Given the description of an element on the screen output the (x, y) to click on. 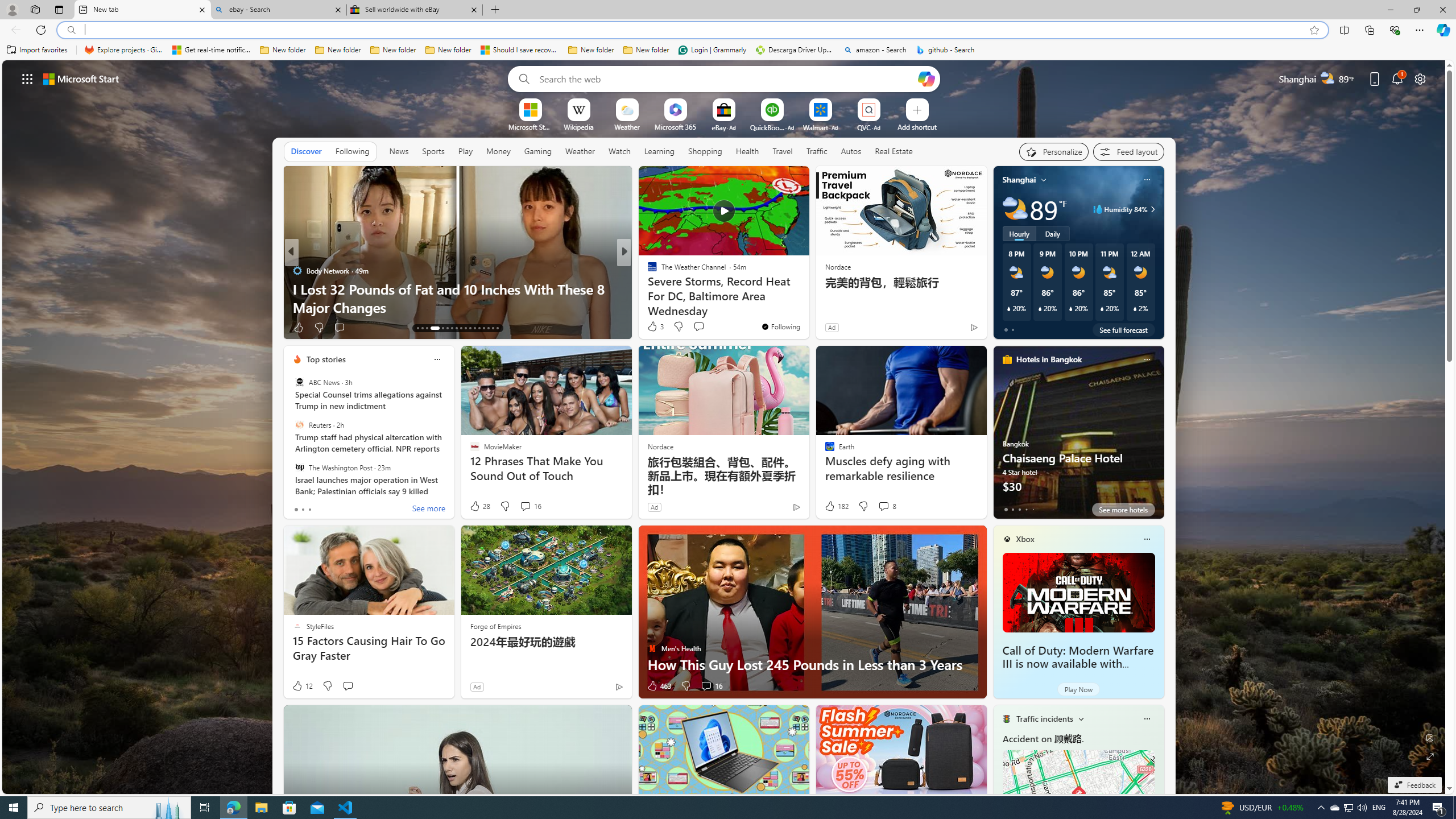
Discover (306, 151)
USA TODAY (647, 270)
amazon - Search (875, 49)
Dislike (685, 685)
How to get rid of body odor, according to medical experts (807, 298)
Open Copilot (925, 78)
Chaisaeng Palace Hotel (1078, 436)
Wikipedia (578, 126)
Humidity 84% (1150, 208)
Following (352, 151)
Travel (782, 151)
The History of the Windows Start Menu (807, 307)
